Given the description of an element on the screen output the (x, y) to click on. 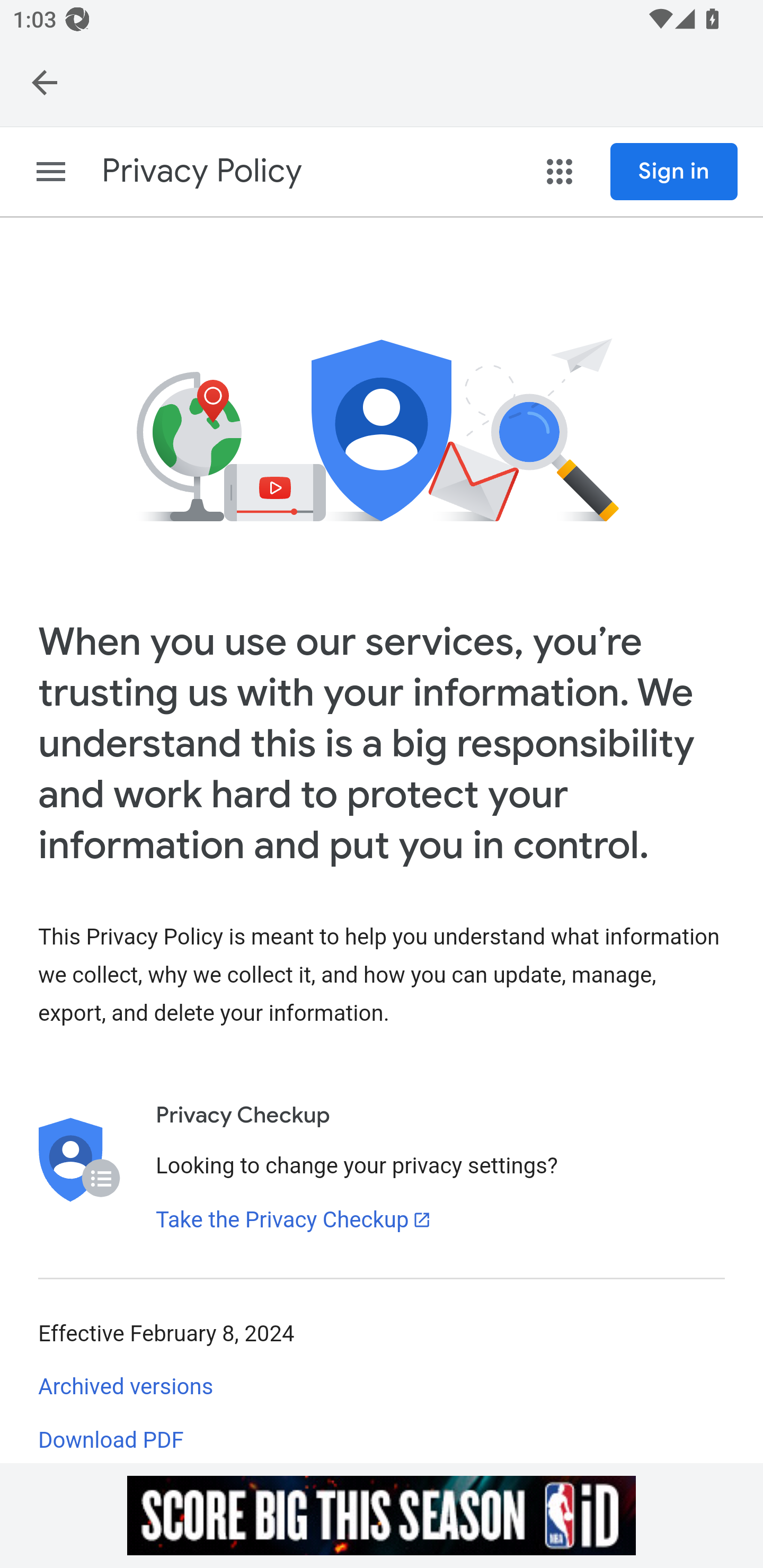
Navigate up (44, 82)
Main menu (50, 171)
Google apps (559, 171)
Sign in (673, 171)
Take the Privacy Checkup (293, 1218)
Archived versions (126, 1387)
Download PDF (111, 1439)
